Given the description of an element on the screen output the (x, y) to click on. 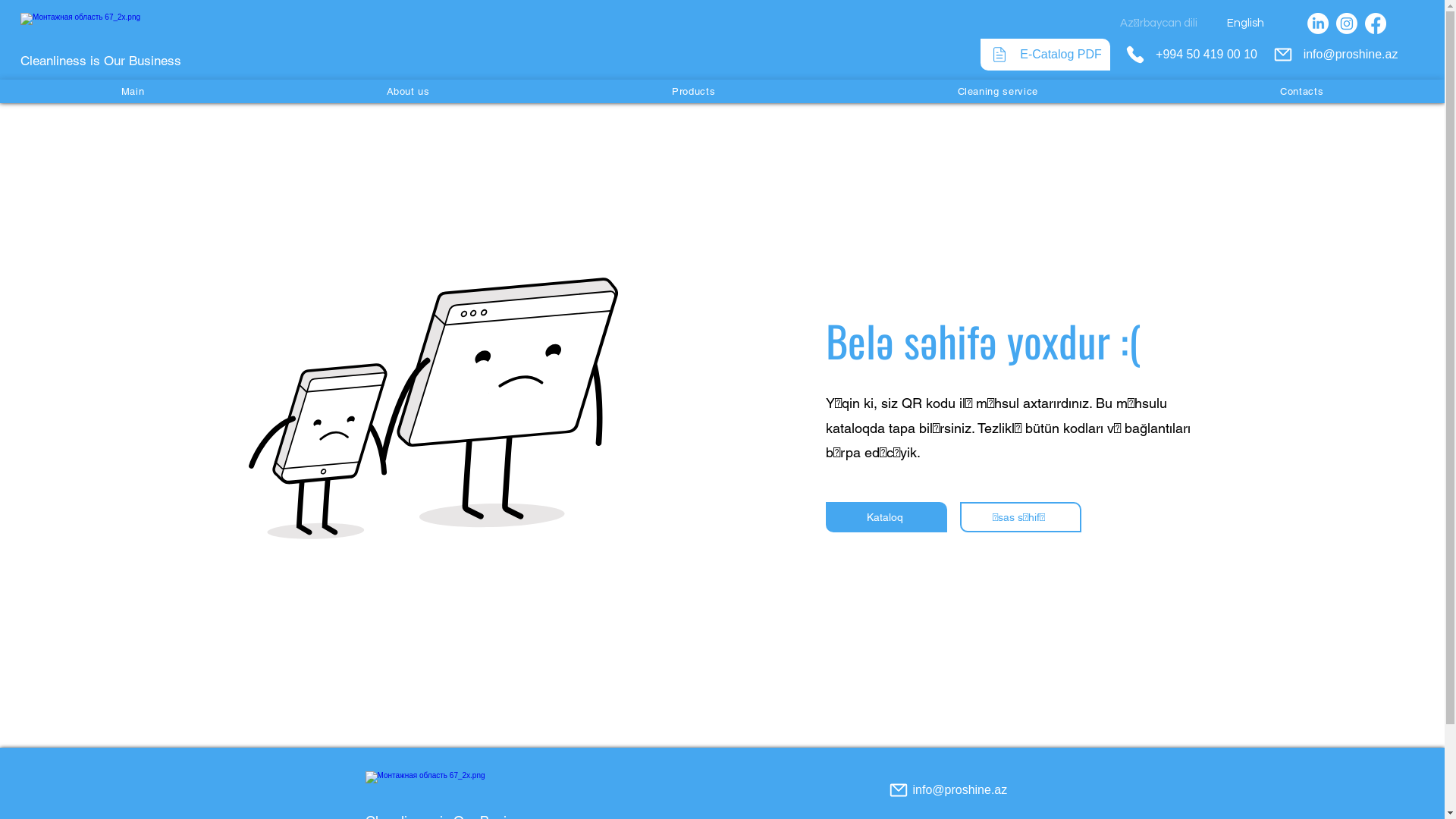
About us Element type: text (407, 91)
English Element type: text (1247, 22)
Main Element type: text (132, 91)
Cleaning service Element type: text (997, 91)
E-Catalog PDF Element type: text (1045, 54)
+994 50 419 00 10 Element type: text (1190, 54)
info@proshine.az Element type: text (1334, 54)
info@proshine.az Element type: text (965, 790)
Kataloq Element type: text (886, 517)
Contacts Element type: text (1301, 91)
Cleanliness is Our Business Element type: text (100, 60)
